Given the description of an element on the screen output the (x, y) to click on. 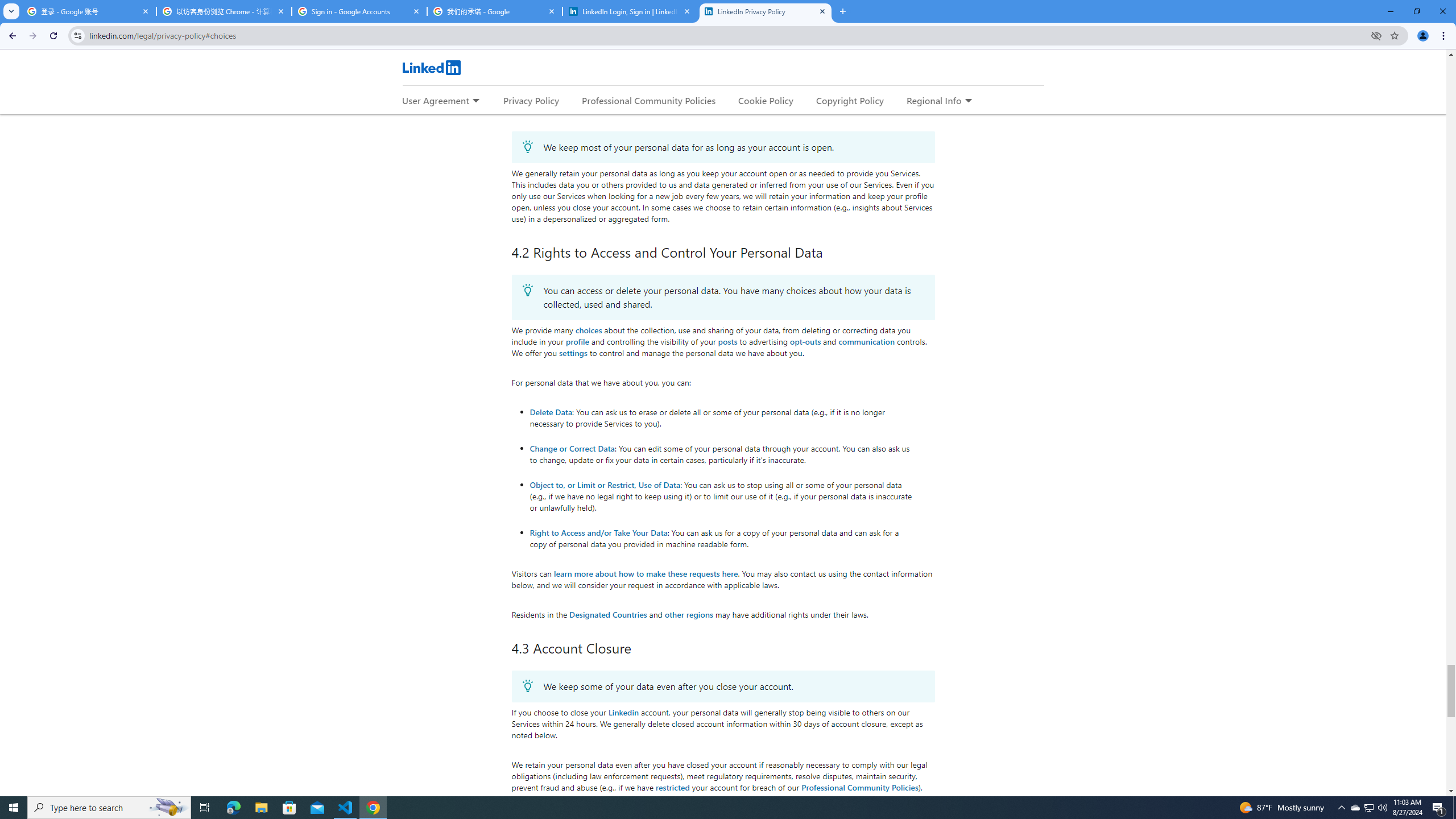
Linkedin (623, 711)
